Given the description of an element on the screen output the (x, y) to click on. 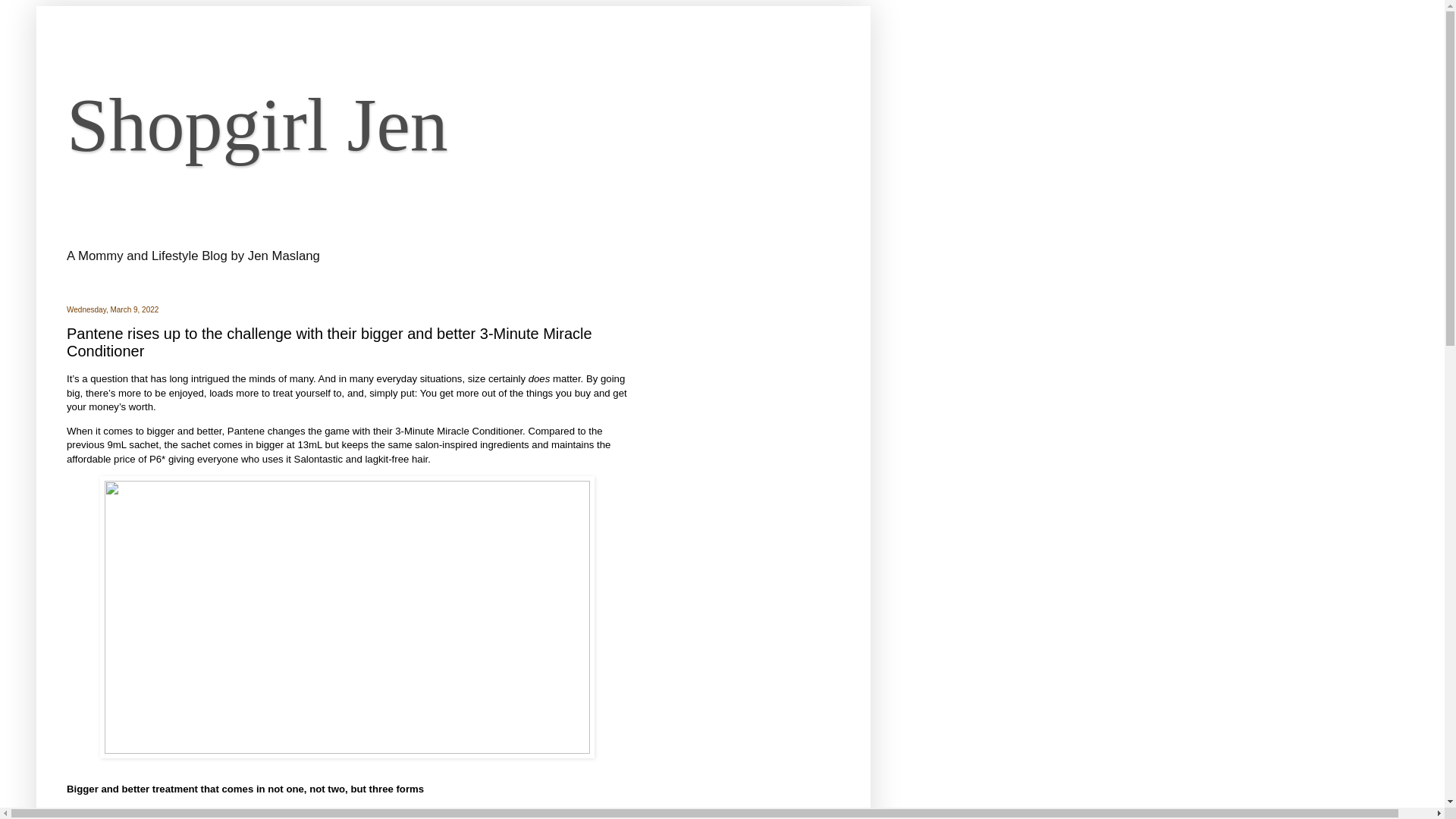
Shopgirl Jen (257, 124)
